Given the description of an element on the screen output the (x, y) to click on. 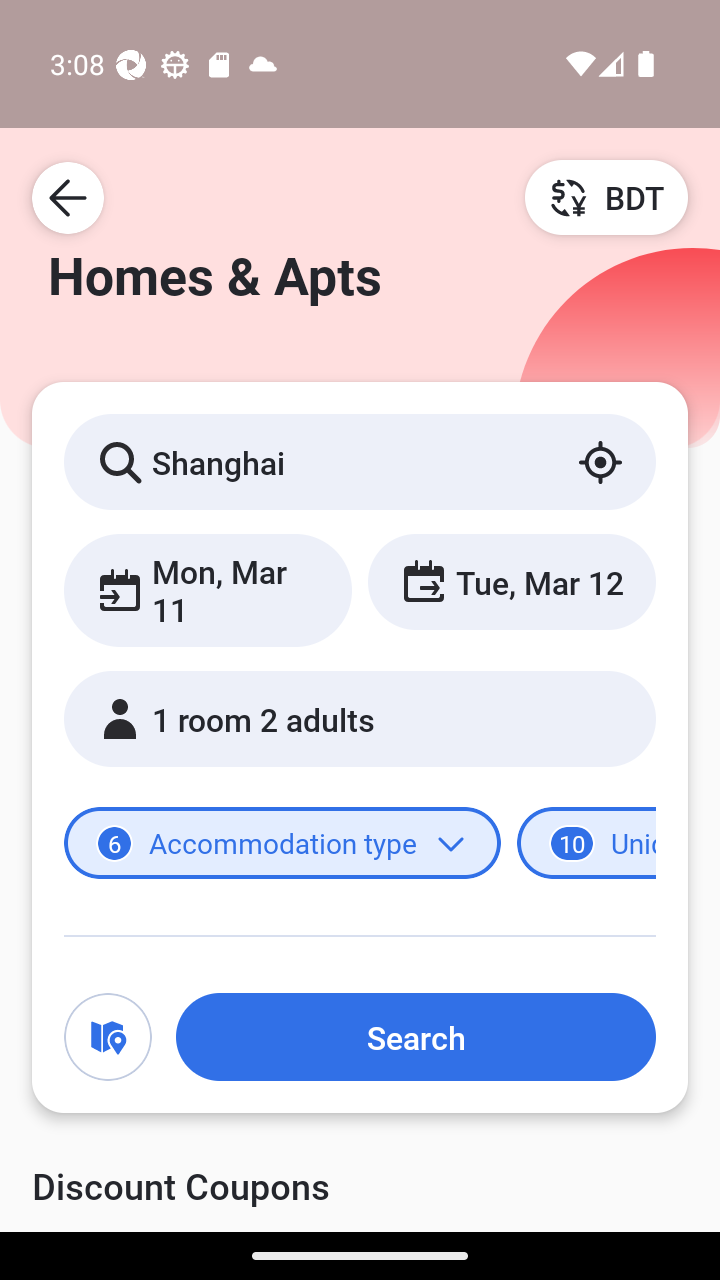
BDT (606, 197)
Shanghai (359, 461)
Mon, Mar 11 (208, 589)
Tue, Mar 12 (511, 581)
1 room 2 adults (359, 718)
6 Accommodation type (282, 842)
Search (415, 1037)
